Given the description of an element on the screen output the (x, y) to click on. 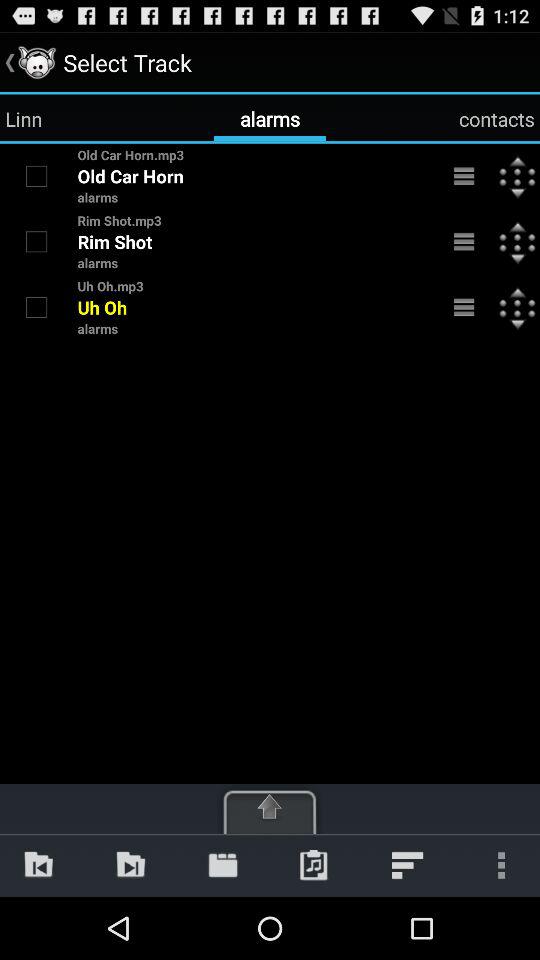
select the empty box left to the old car horn (36, 175)
select the 3rd icon left to the music symbol from the bottom (222, 865)
click on the icon next to the menu bar on the first text (517, 175)
select the three dots present in right side corner from the bottom (497, 865)
select the 2nd menu bar icon (464, 241)
click on menu bar on the first text (464, 176)
click on the emoji at the top left corner (36, 62)
